Given the description of an element on the screen output the (x, y) to click on. 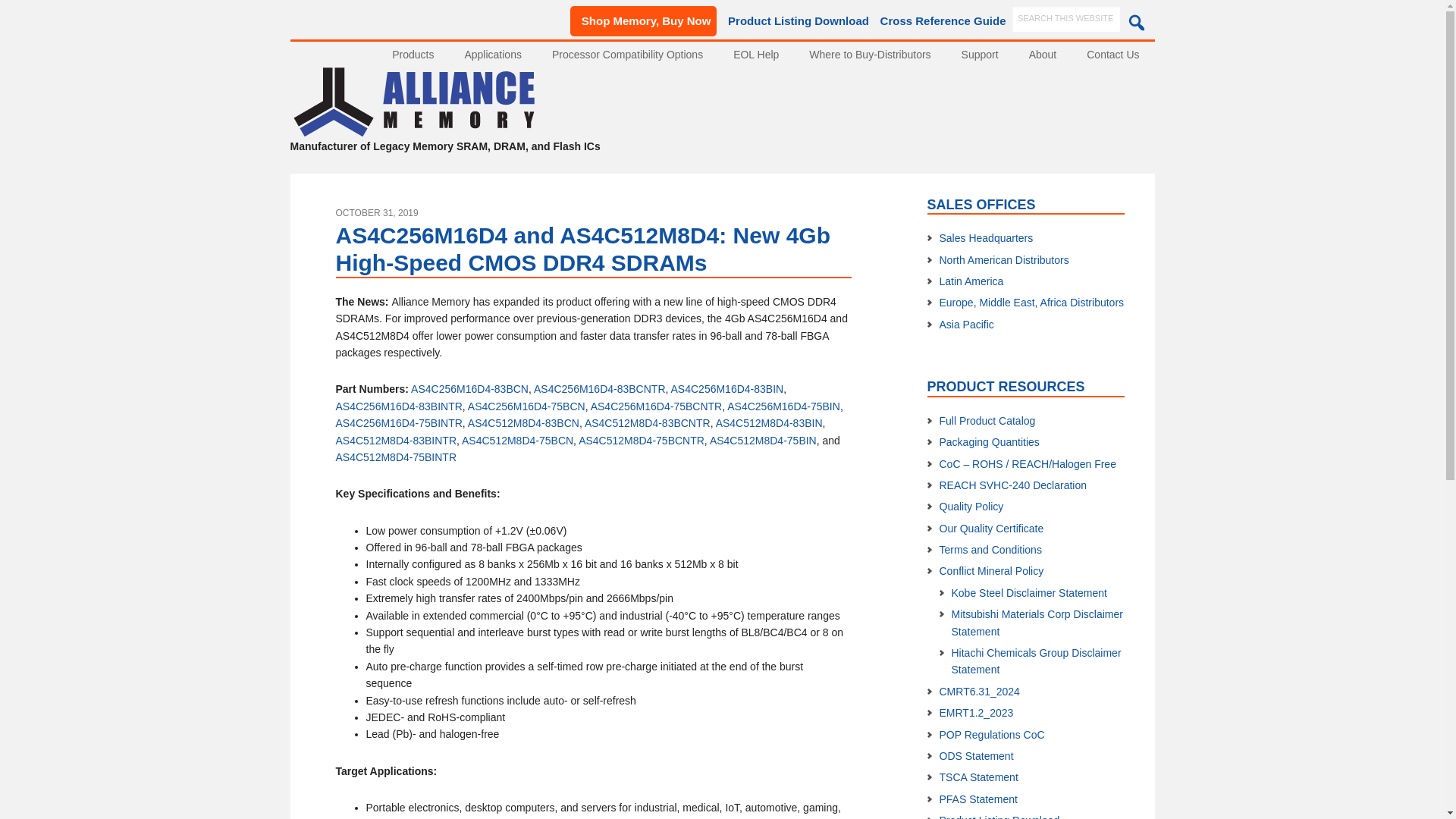
Product Listing Download (794, 21)
Processor Compatibility Options (627, 54)
Cross Reference Guide (939, 20)
EOL Help (755, 54)
Support (979, 54)
Contact Us (1112, 54)
About (1042, 54)
Shop Memory, Buy Now (643, 20)
Alliance Memory (413, 129)
Where to Buy-Distributors (868, 54)
